Given the description of an element on the screen output the (x, y) to click on. 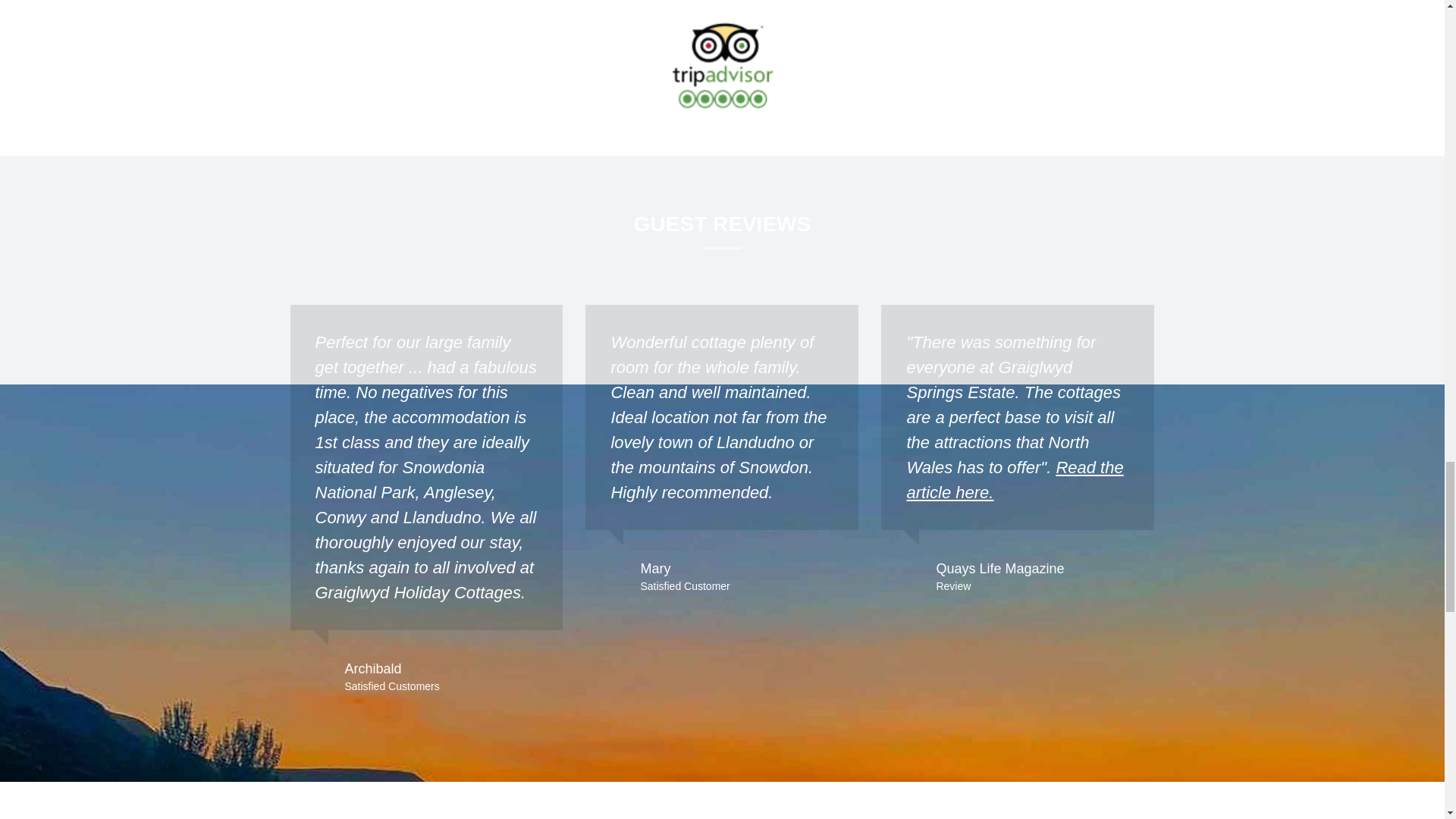
View on tripadvisor (721, 64)
Read the article here. (1013, 479)
